Given the description of an element on the screen output the (x, y) to click on. 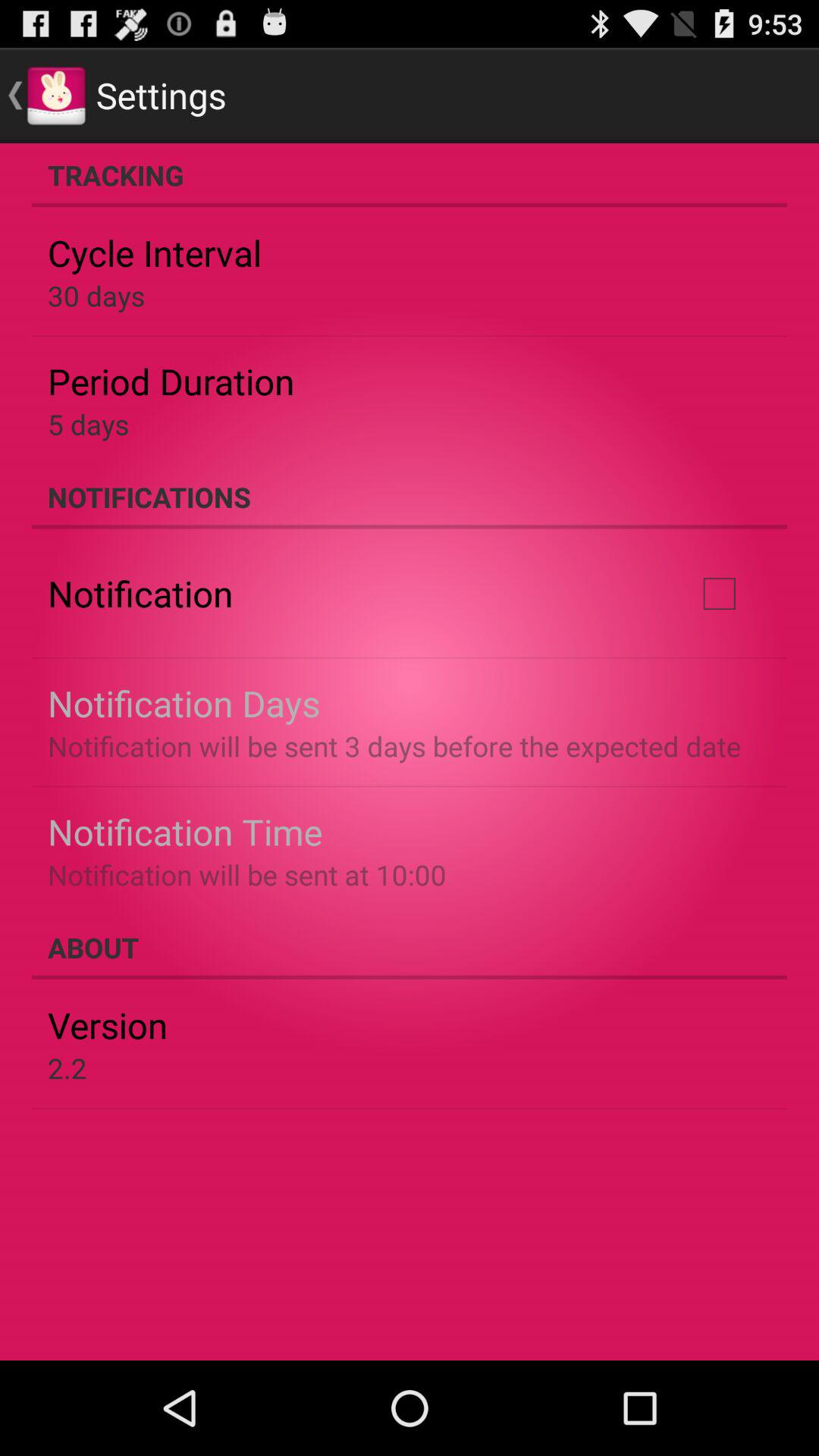
select the checkbox on the right (719, 593)
